Given the description of an element on the screen output the (x, y) to click on. 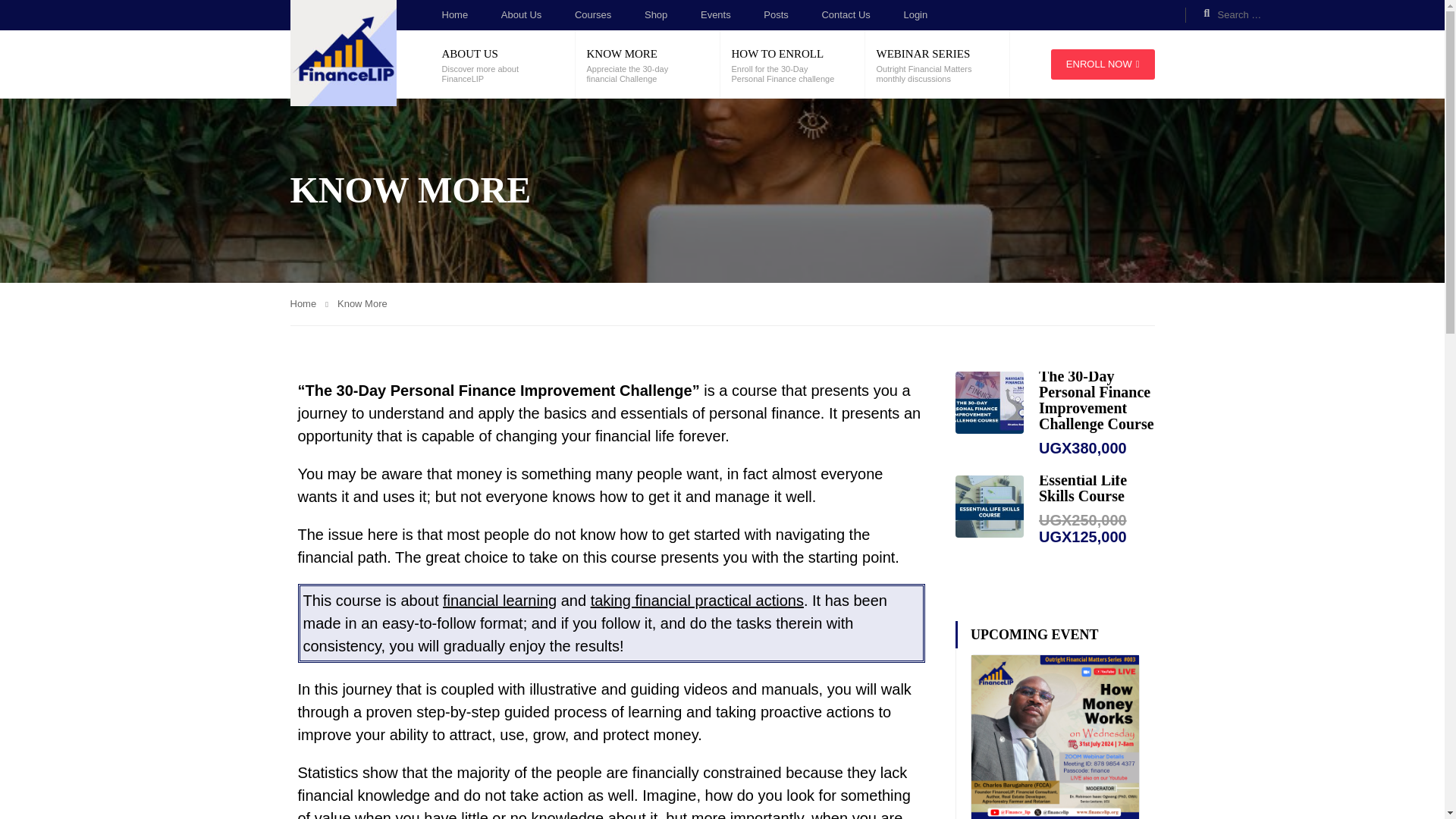
KNOW MORE (622, 53)
ENROLL NOW (1102, 64)
Login (914, 15)
Shop (655, 15)
Courses (593, 15)
Essential Life Skills Course (1082, 487)
Home (308, 303)
Posts (775, 15)
About Us (520, 15)
HOW TO ENROLL (777, 53)
Home (454, 15)
Contact Us (845, 15)
The 30-Day Personal Finance Improvement Challenge Course (1096, 399)
ABOUT US (469, 53)
Events (715, 15)
